Given the description of an element on the screen output the (x, y) to click on. 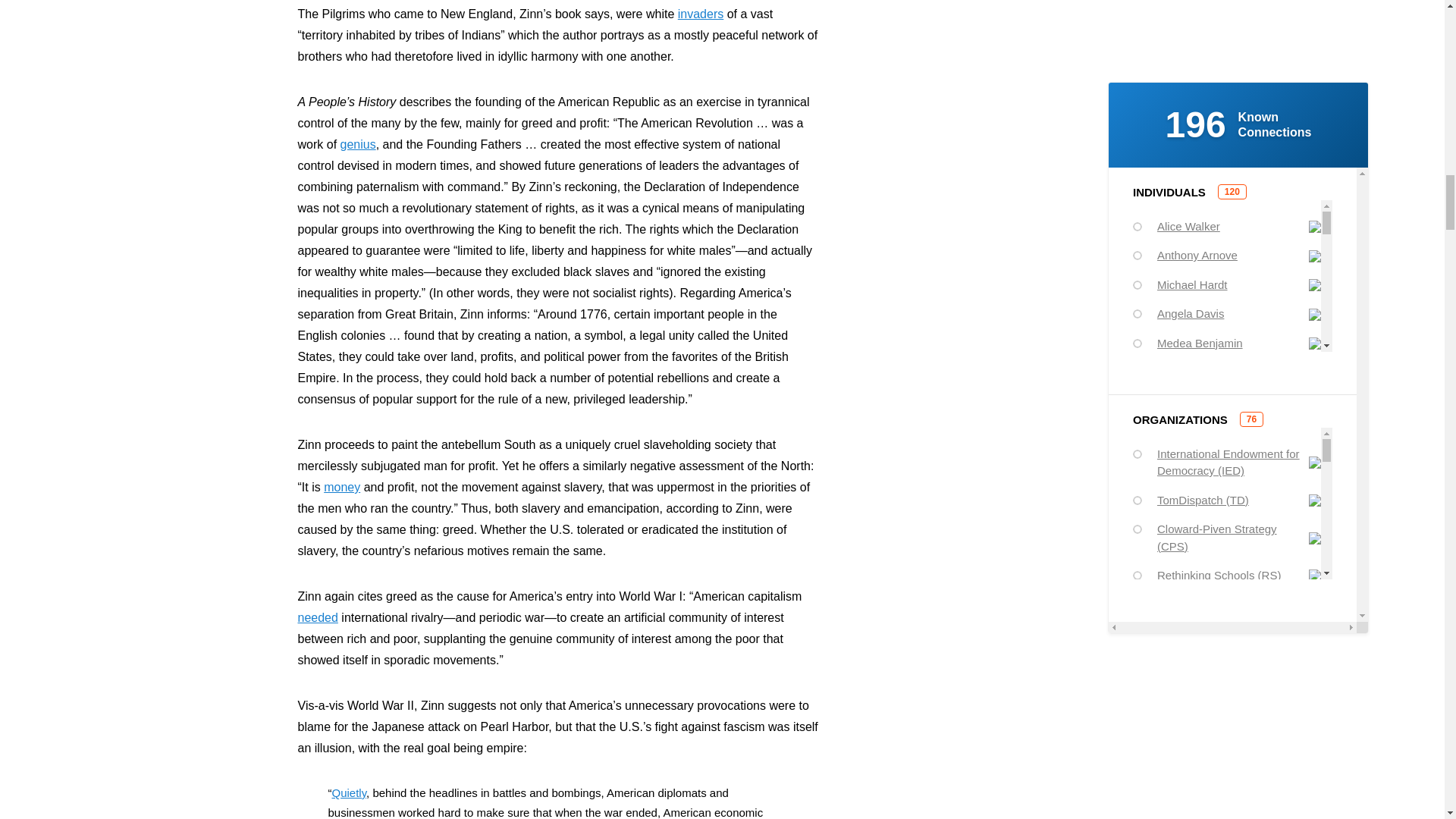
genius (357, 144)
money (341, 486)
Quietly (348, 792)
needed (317, 617)
invaders (700, 13)
